Given the description of an element on the screen output the (x, y) to click on. 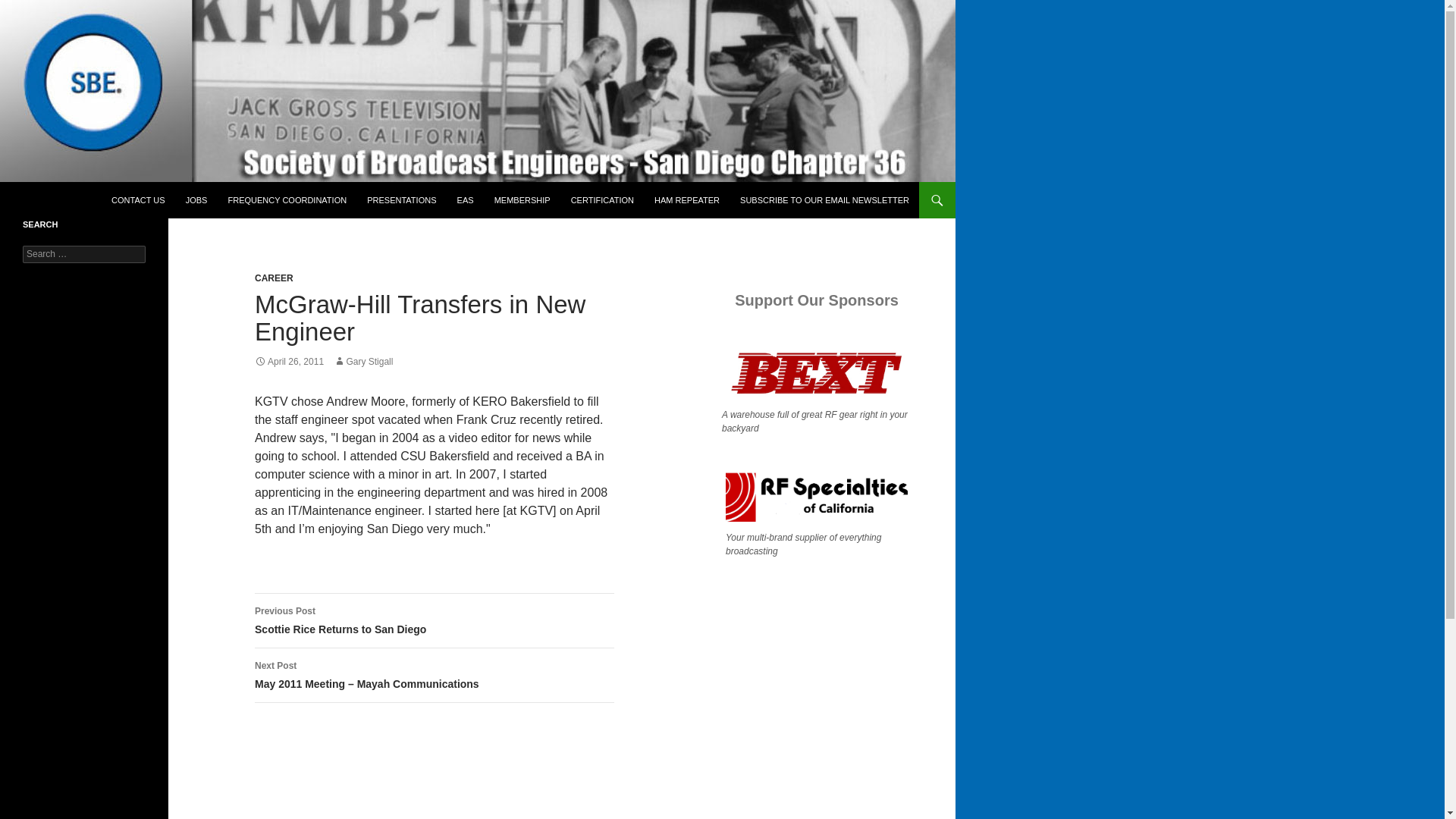
EAS (465, 199)
MEMBERSHIP (521, 199)
Search (26, 8)
CAREER (274, 277)
April 26, 2011 (288, 361)
San Diego Chapter 36 (93, 199)
HAM REPEATER (687, 199)
SUBSCRIBE TO OUR EMAIL NEWSLETTER (824, 199)
